Given the description of an element on the screen output the (x, y) to click on. 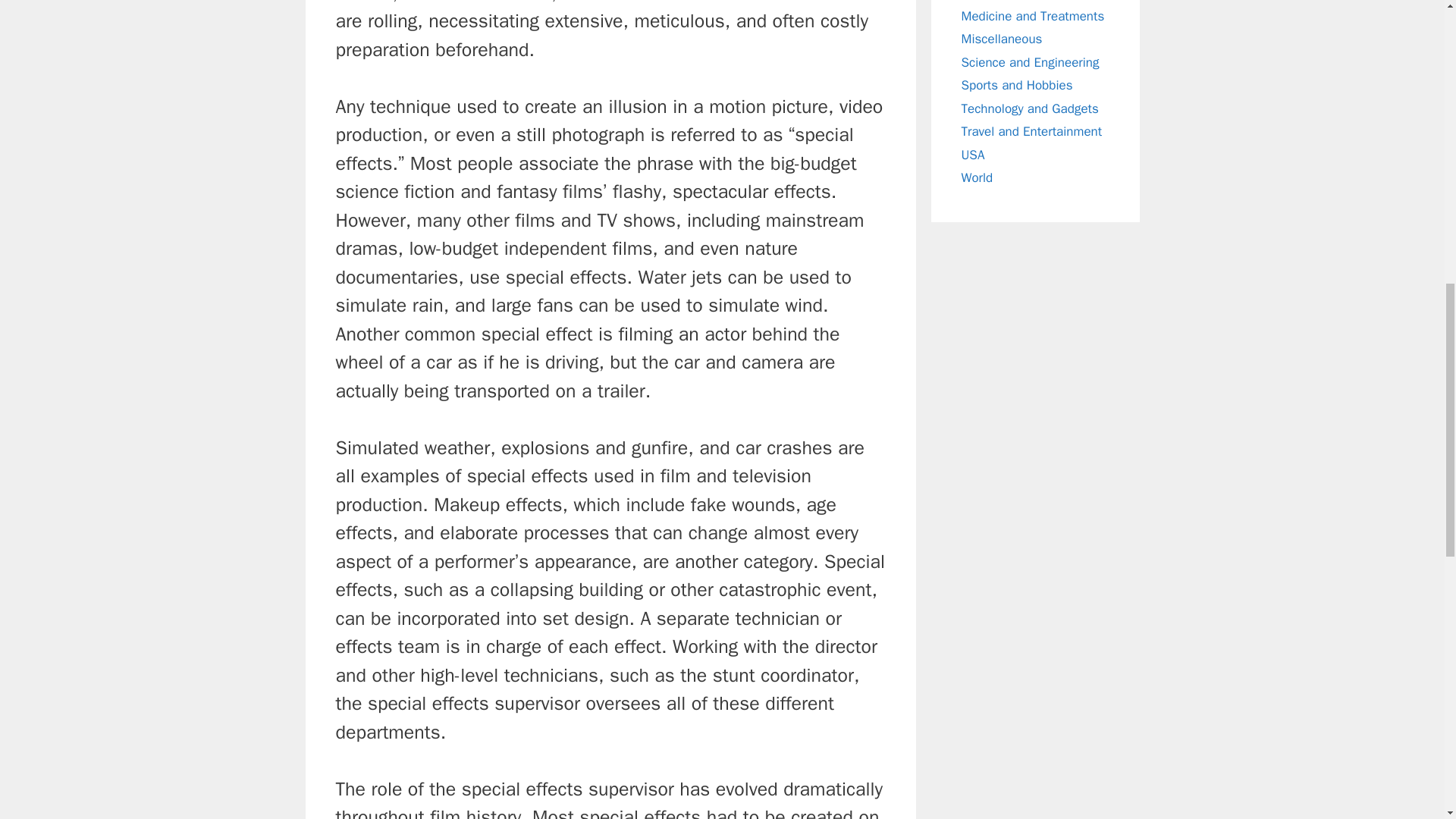
Sports and Hobbies (1016, 84)
Miscellaneous (1001, 38)
World (976, 177)
USA (972, 154)
Technology and Gadgets (1029, 107)
Science and Engineering (1029, 62)
Travel and Entertainment (1031, 131)
Medicine and Treatments (1032, 15)
